Given the description of an element on the screen output the (x, y) to click on. 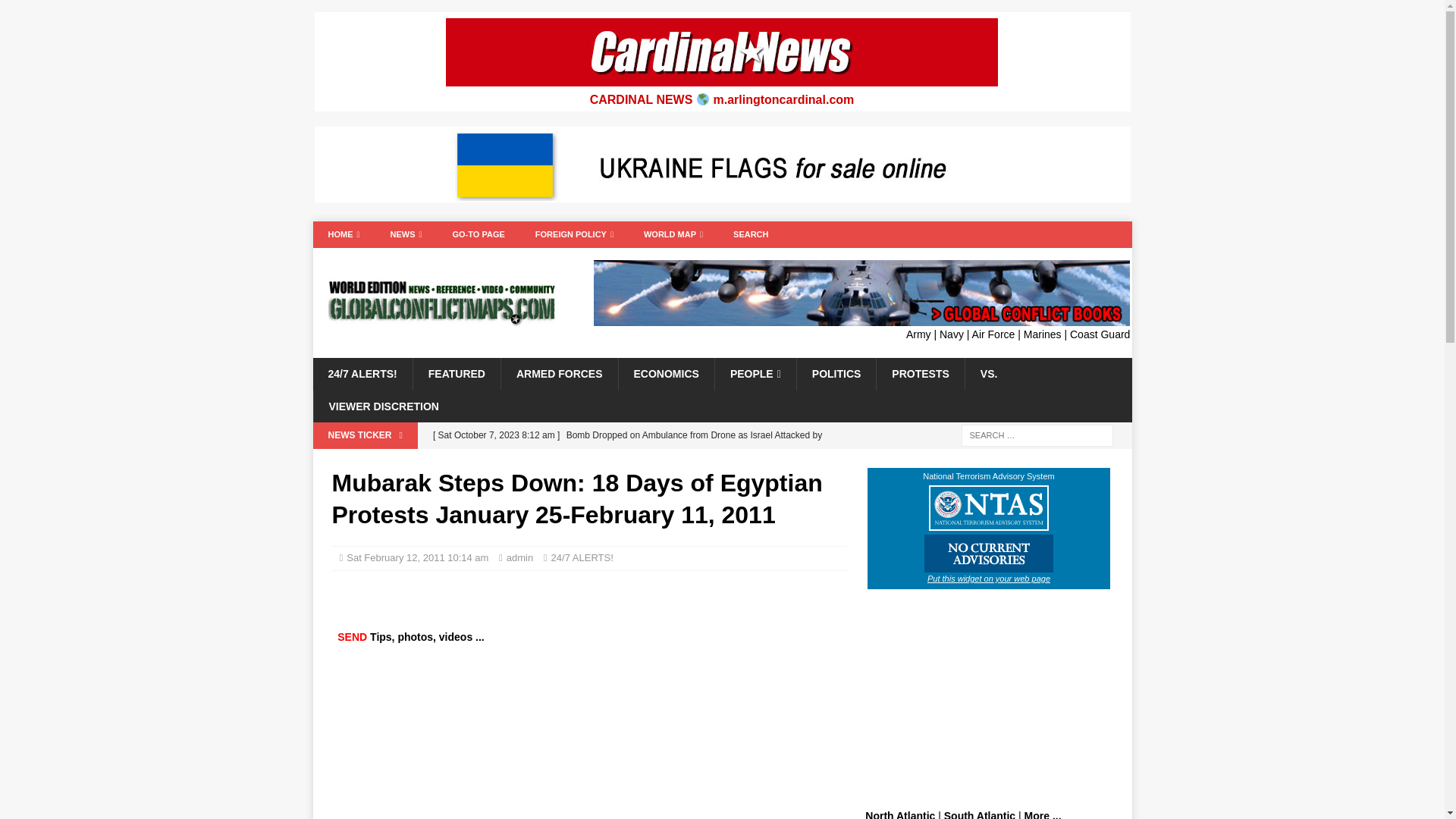
HOME (343, 234)
CARDINAL NEWS m.arlingtoncardinal.com (721, 100)
YouTube video player (557, 740)
NEWS (406, 234)
